Given the description of an element on the screen output the (x, y) to click on. 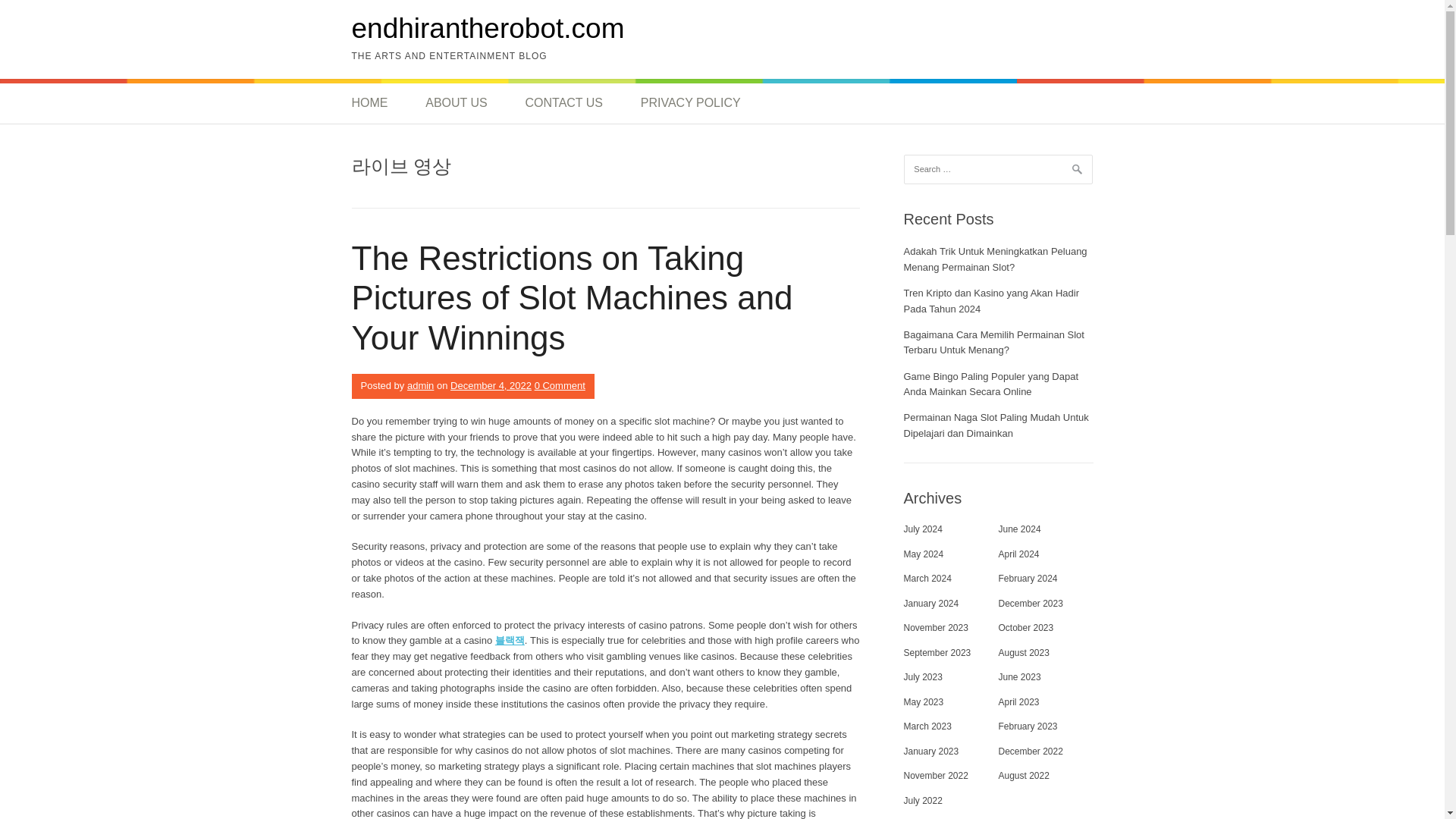
April 2024 (1018, 553)
August 2022 (1022, 775)
May 2023 (923, 701)
January 2023 (931, 751)
endhirantherobot.com (488, 28)
July 2023 (923, 676)
March 2023 (928, 726)
Search (30, 15)
September 2023 (937, 652)
October 2023 (1024, 627)
CONTACT US (563, 102)
February 2024 (1027, 578)
December 4, 2022 (490, 385)
November 2022 (936, 775)
